Given the description of an element on the screen output the (x, y) to click on. 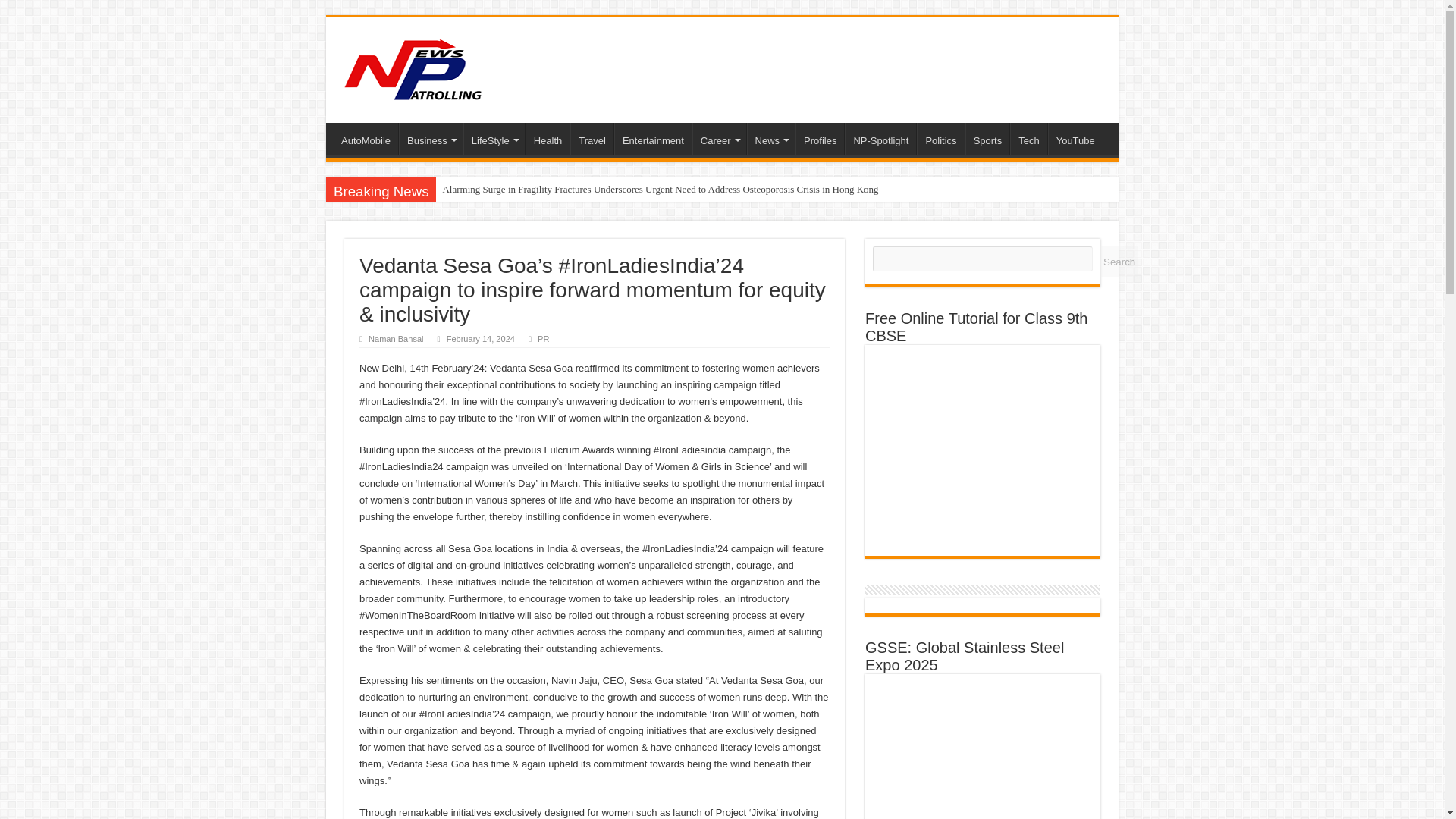
Health (547, 138)
LifeStyle (493, 138)
Business (430, 138)
Newspatrolling.com (413, 67)
AutoMobile (365, 138)
Travel (591, 138)
